Given the description of an element on the screen output the (x, y) to click on. 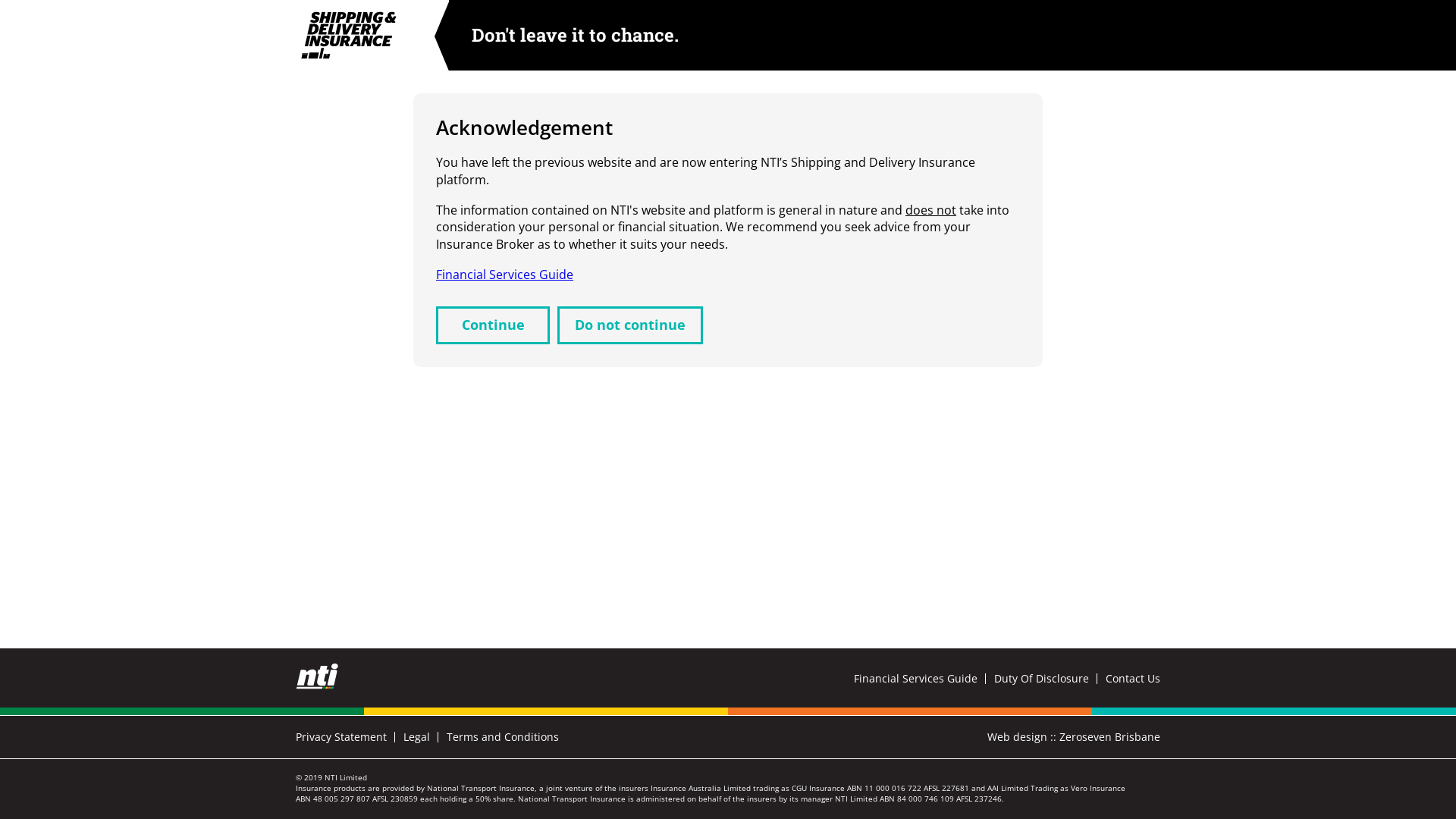
Duty Of Disclosure Element type: text (1049, 680)
Terms and Conditions Element type: text (502, 737)
Legal Element type: text (424, 737)
Do not continue Element type: text (629, 325)
Privacy Statement Element type: text (349, 737)
Financial Services Guide Element type: text (504, 274)
Financial Services Guide Element type: text (923, 680)
Web design :: Zeroseven Brisbane Element type: text (1073, 737)
Continue Element type: text (492, 325)
Contact Us Element type: text (1132, 680)
